Given the description of an element on the screen output the (x, y) to click on. 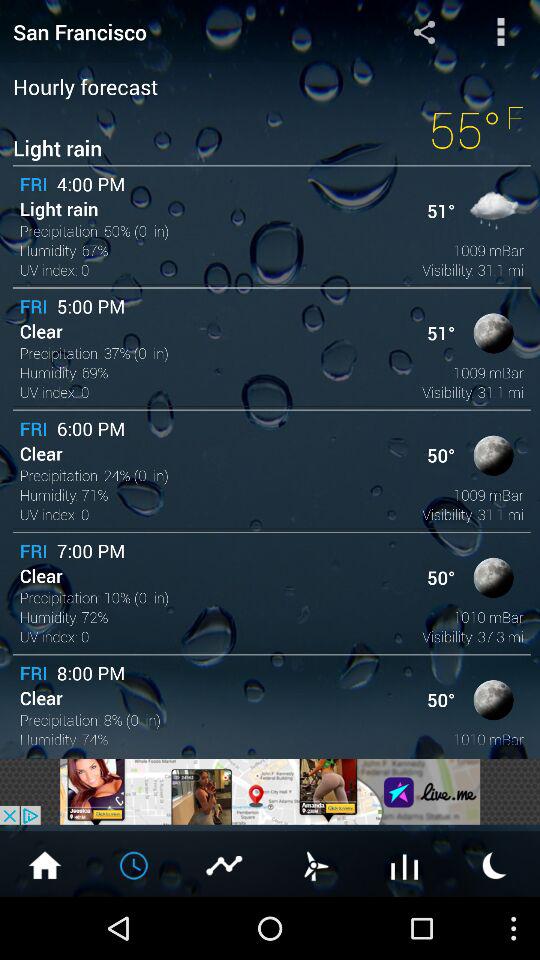
turns on night mode (495, 864)
